Given the description of an element on the screen output the (x, y) to click on. 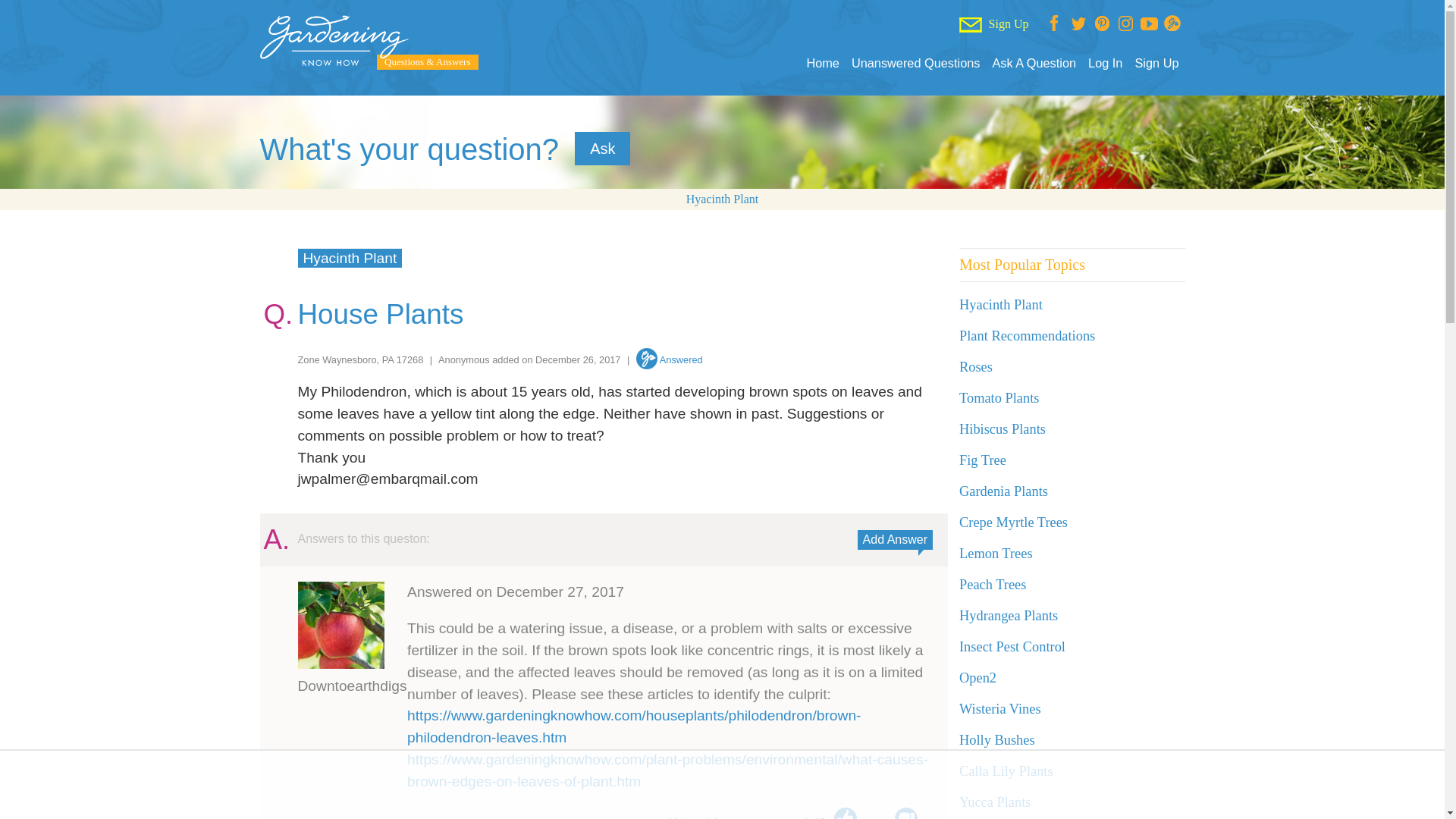
Home (822, 62)
Ask A Question (1033, 62)
Gardenia Plants (1003, 491)
Open2 (977, 677)
Peach Trees (992, 584)
Hyacinth Plant (1000, 304)
Tomato Plants (999, 397)
Hydrangea Plants (1008, 615)
Hibiscus Plants (1002, 428)
Crepe Myrtle Trees (1013, 522)
Ask (602, 148)
Hyacinth Plant (349, 257)
Tomato Plants (999, 397)
Lemon Trees (995, 553)
Unanswered Questions (916, 62)
